Given the description of an element on the screen output the (x, y) to click on. 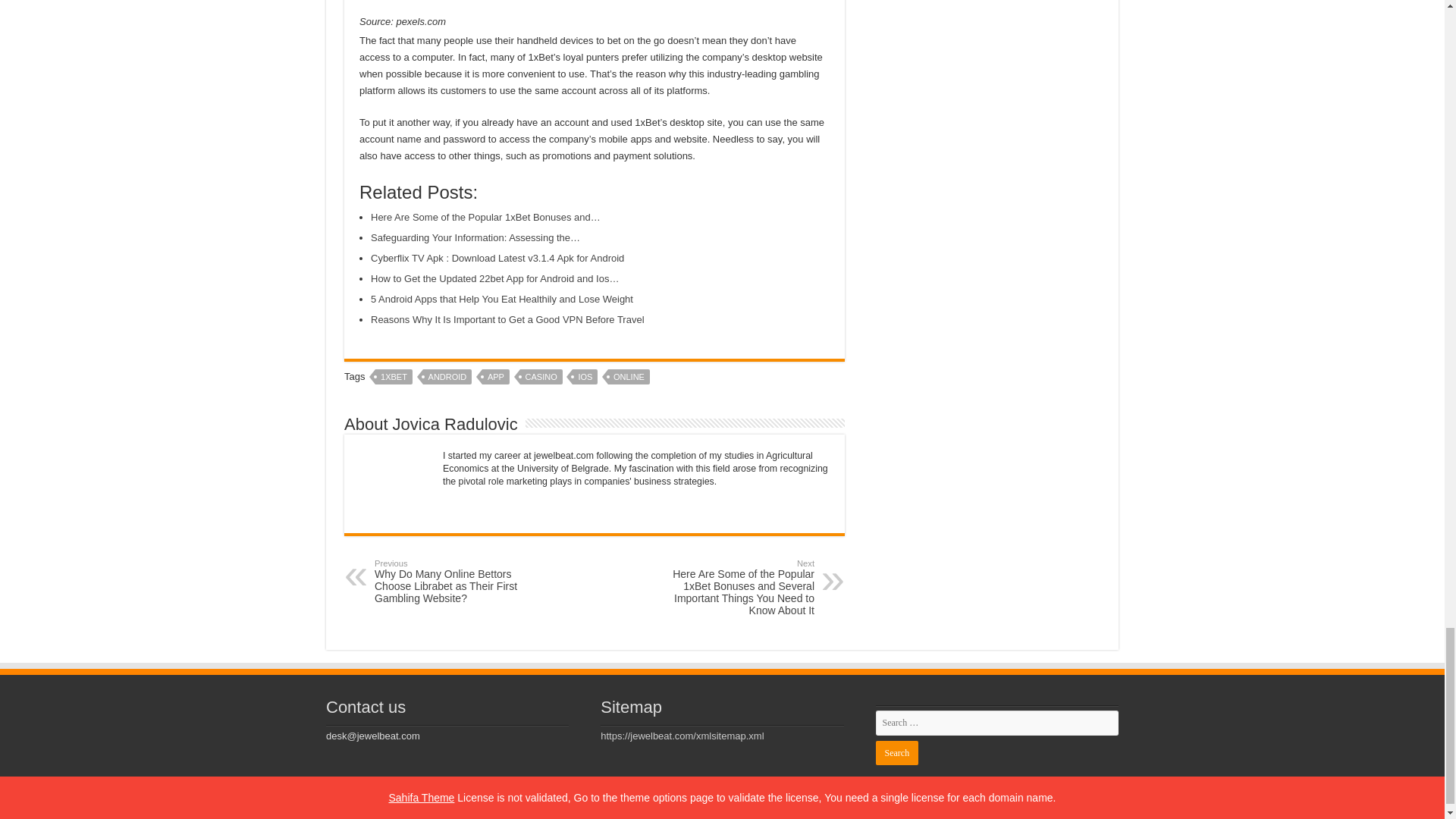
ANDROID (447, 376)
CASINO (540, 376)
5 Android Apps that Help You Eat Healthily and Lose Weight (502, 298)
IOS (584, 376)
APP (495, 376)
ONLINE (628, 376)
Search (896, 752)
Cyberflix TV Apk : Download Latest v3.1.4 Apk for Android (497, 257)
Reasons Why It Is Important to Get a Good VPN Before Travel (508, 319)
1XBET (393, 376)
Search (896, 752)
